Given the description of an element on the screen output the (x, y) to click on. 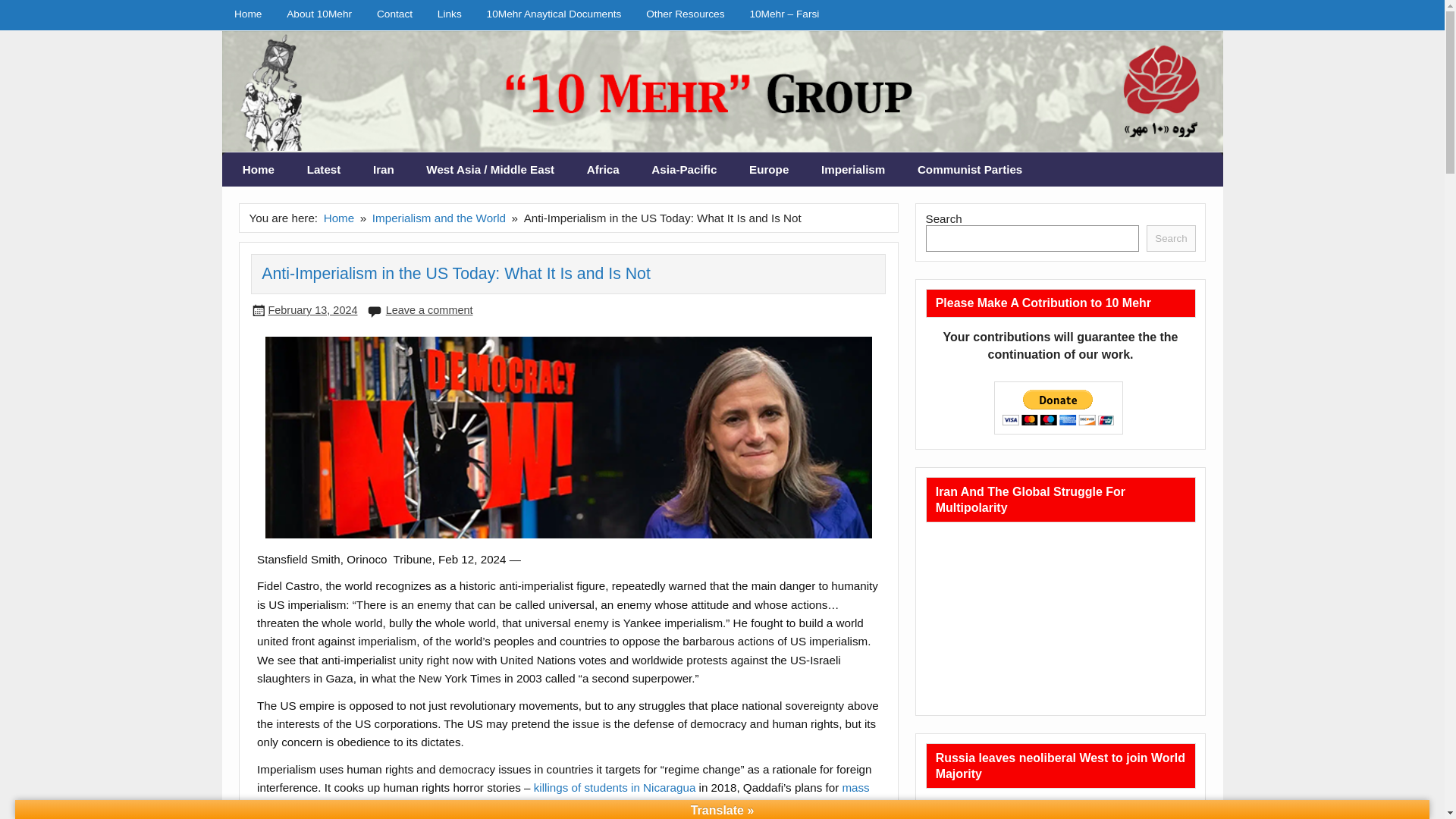
killings of students in Nicaragua (614, 787)
mass rape and murder in Libya (563, 796)
Leave a comment (429, 309)
Home (247, 14)
Imperialism (853, 170)
Links (449, 14)
Home (339, 217)
Communist Parties (970, 170)
Europe (769, 170)
PayPal - The safer, easier way to pay online! (1058, 407)
7:37 am (311, 309)
Chinese genocide (717, 806)
February 13, 2024 (311, 309)
Iran (383, 170)
Home (259, 170)
